Given the description of an element on the screen output the (x, y) to click on. 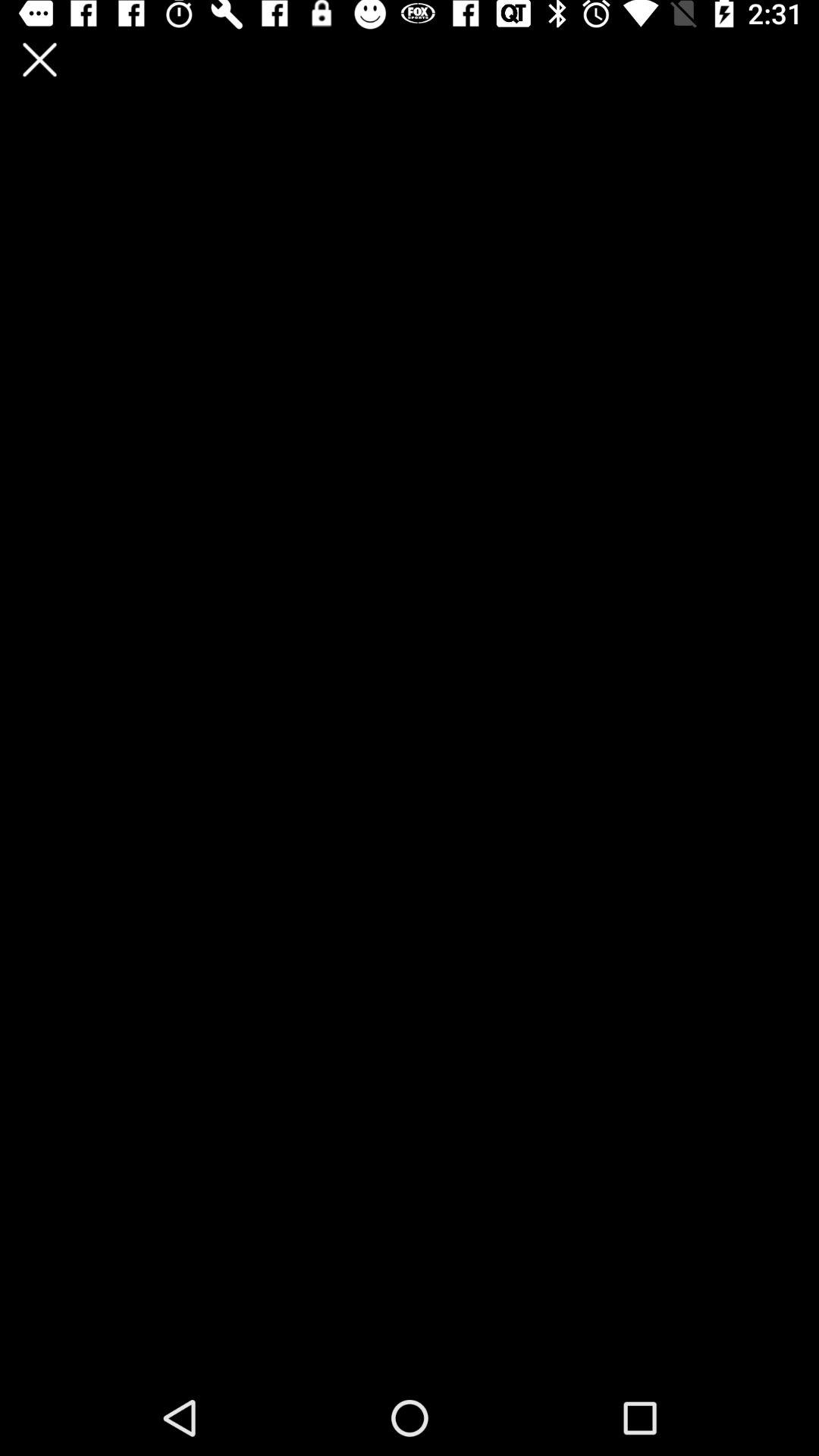
go back (39, 59)
